Given the description of an element on the screen output the (x, y) to click on. 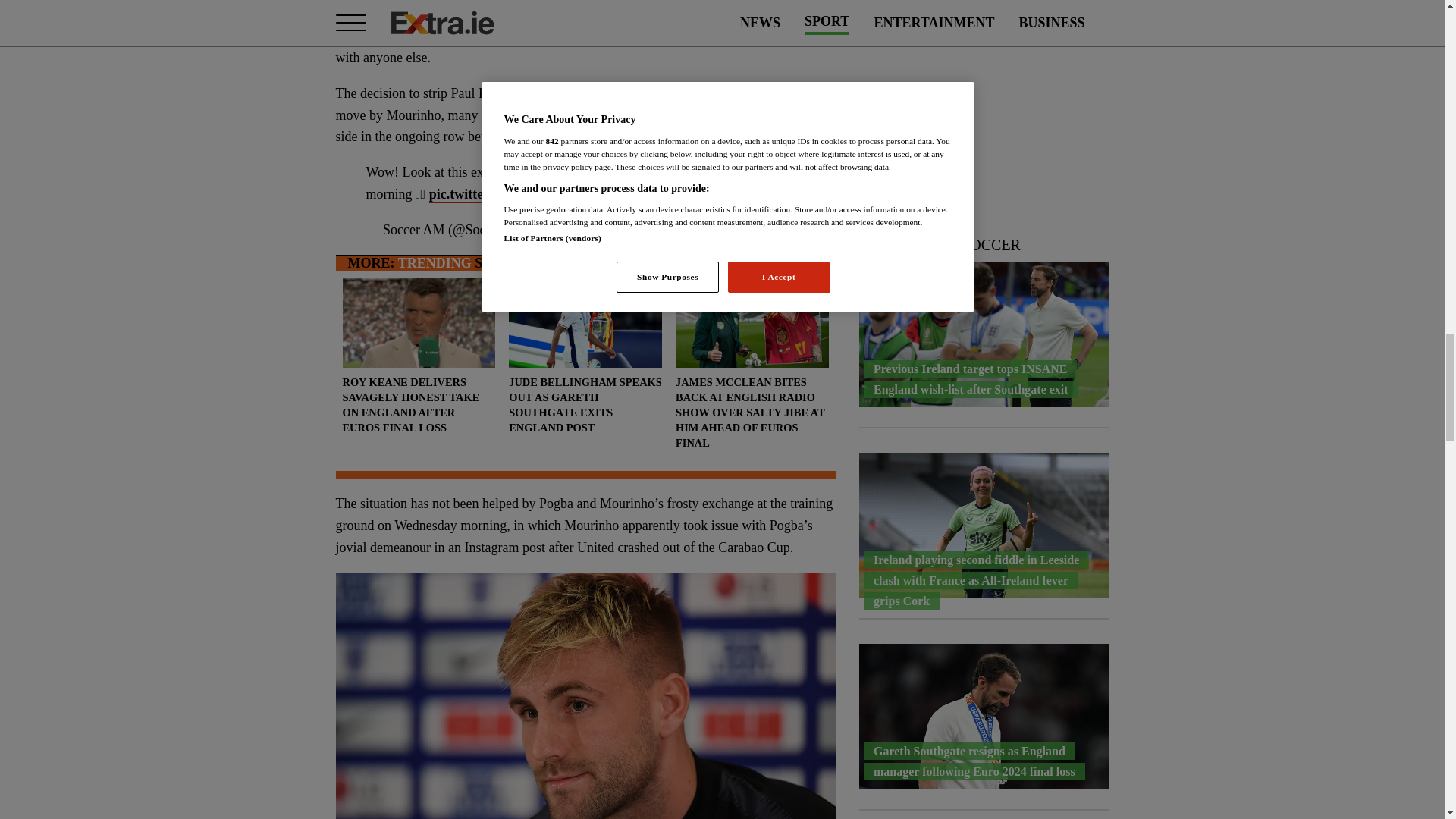
September 26, 2018 (589, 230)
